Given the description of an element on the screen output the (x, y) to click on. 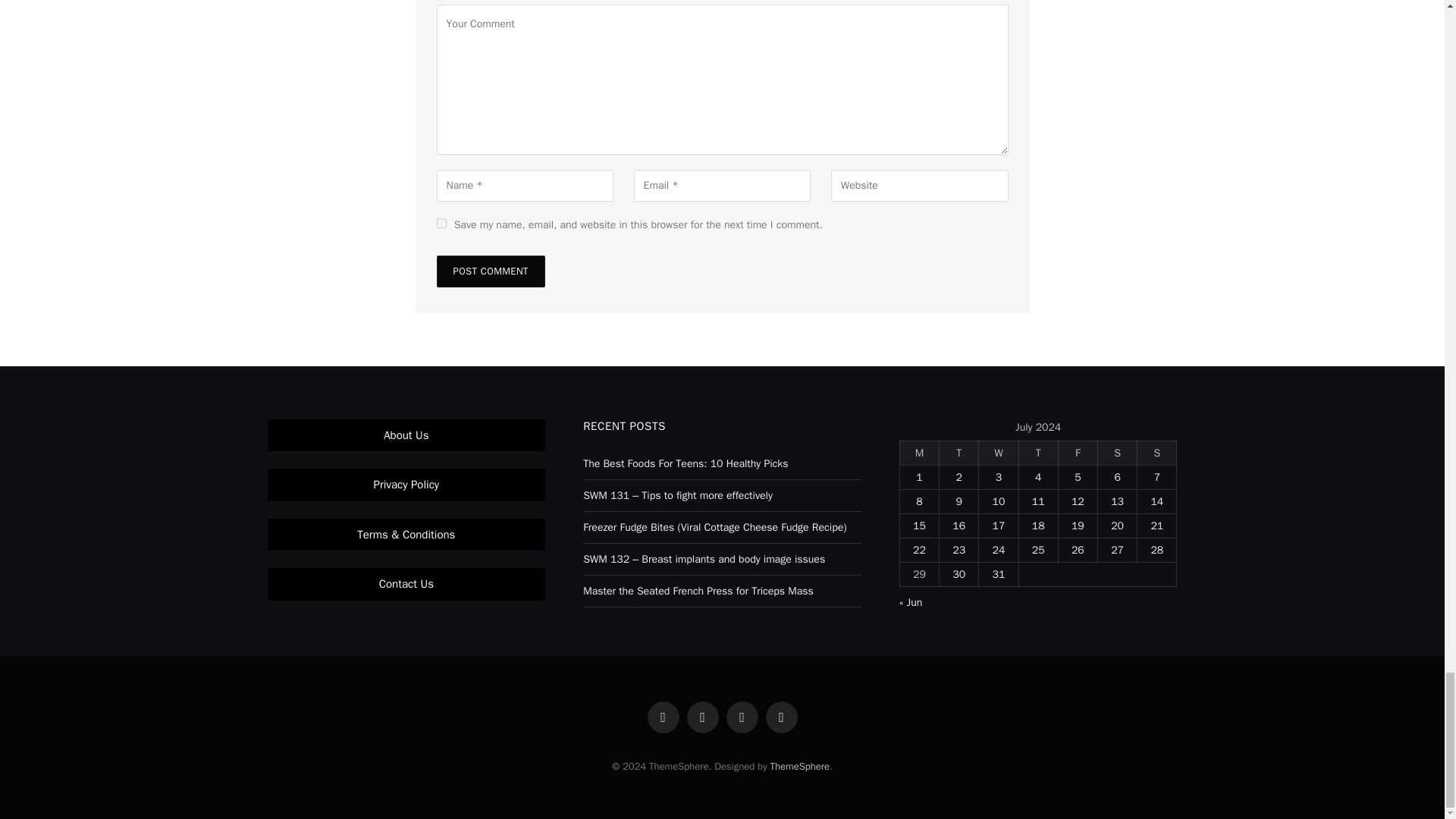
Privacy Policy (406, 484)
Post Comment (490, 271)
The Best Foods For Teens: 10 Healthy Picks (685, 463)
yes (441, 223)
About Us (406, 435)
Contact Us (405, 583)
Monday (919, 452)
Post Comment (490, 271)
